Given the description of an element on the screen output the (x, y) to click on. 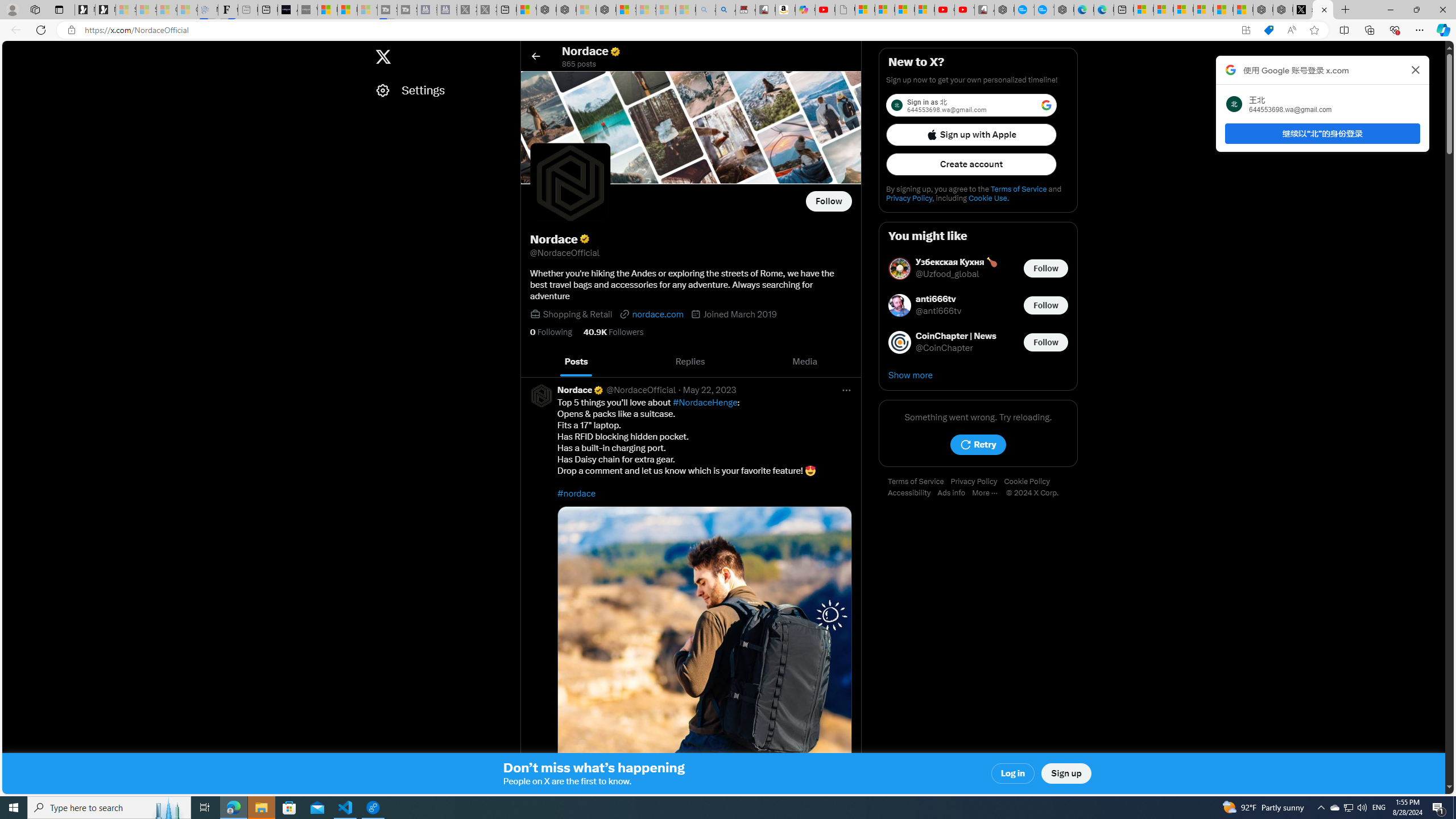
#NordaceHenge (705, 402)
Create account (971, 164)
Privacy Policy (977, 481)
Previous (532, 361)
Image (704, 653)
